Given the description of an element on the screen output the (x, y) to click on. 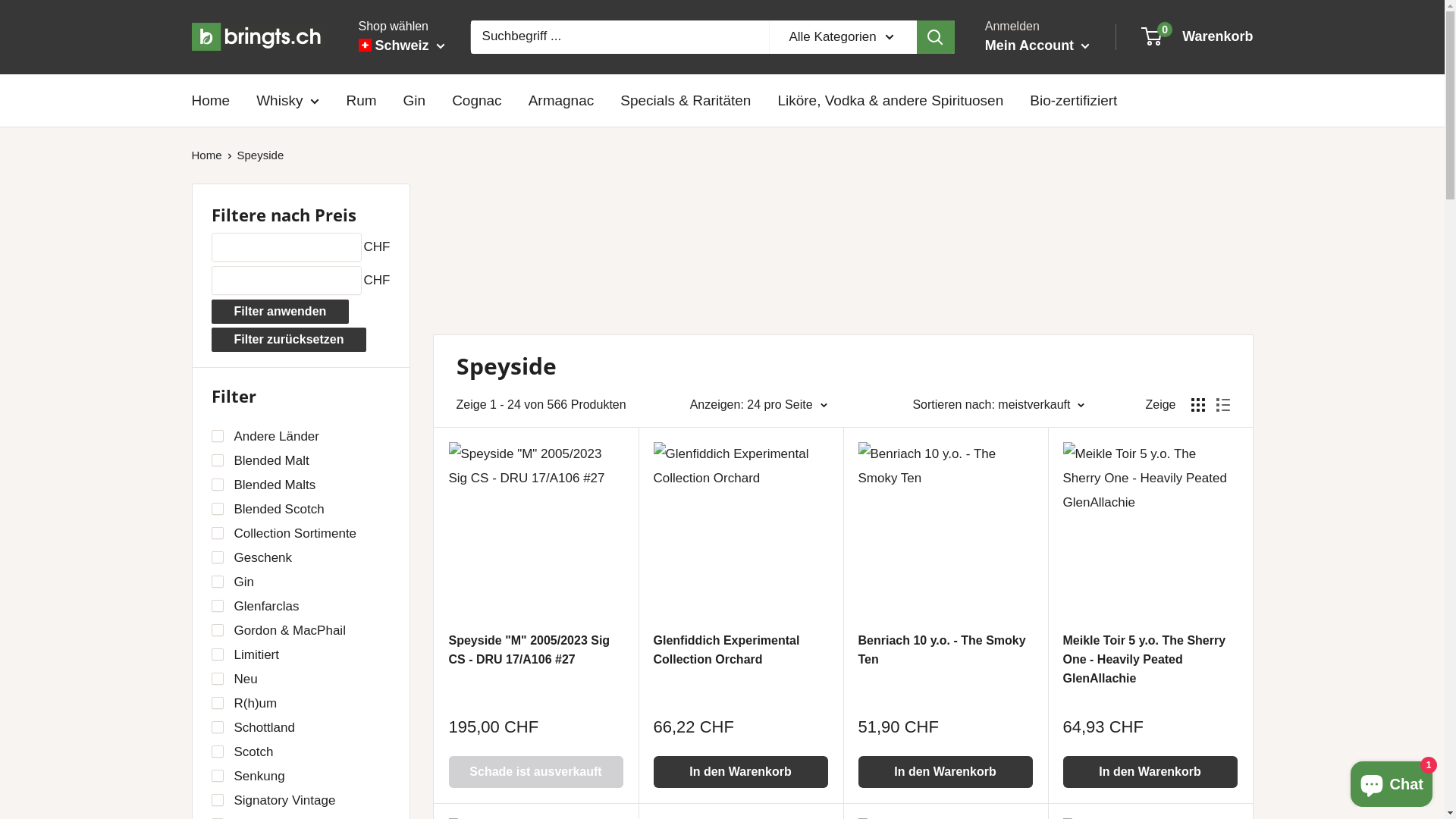
In den Warenkorb Element type: text (945, 771)
Filter anwenden Element type: text (279, 311)
Whisky Element type: text (287, 100)
Sortieren nach: meistverkauft Element type: text (998, 404)
Glenfiddich Experimental Collection Orchard Element type: text (740, 669)
Home Element type: text (206, 154)
Rum Element type: text (360, 100)
0
Warenkorb Element type: text (1197, 37)
Gin Element type: text (414, 100)
Schweiz Element type: text (400, 46)
In den Warenkorb Element type: text (740, 771)
Armagnac Element type: text (561, 100)
Onlineshop-Chat von Shopify Element type: hover (1391, 780)
Mein Account Element type: text (1037, 46)
In den Warenkorb Element type: text (1150, 771)
Anzeigen: 24 pro Seite Element type: text (758, 404)
Home Element type: text (210, 100)
Speyside "M" 2005/2023 Sig CS - DRU 17/A106 #27 Element type: text (535, 669)
Schade ist ausverkauft Element type: text (535, 771)
Bio-zertifiziert Element type: text (1073, 100)
Cognac Element type: text (476, 100)
Benriach 10 y.o. - The Smoky Ten Element type: text (945, 669)
